Given the description of an element on the screen output the (x, y) to click on. 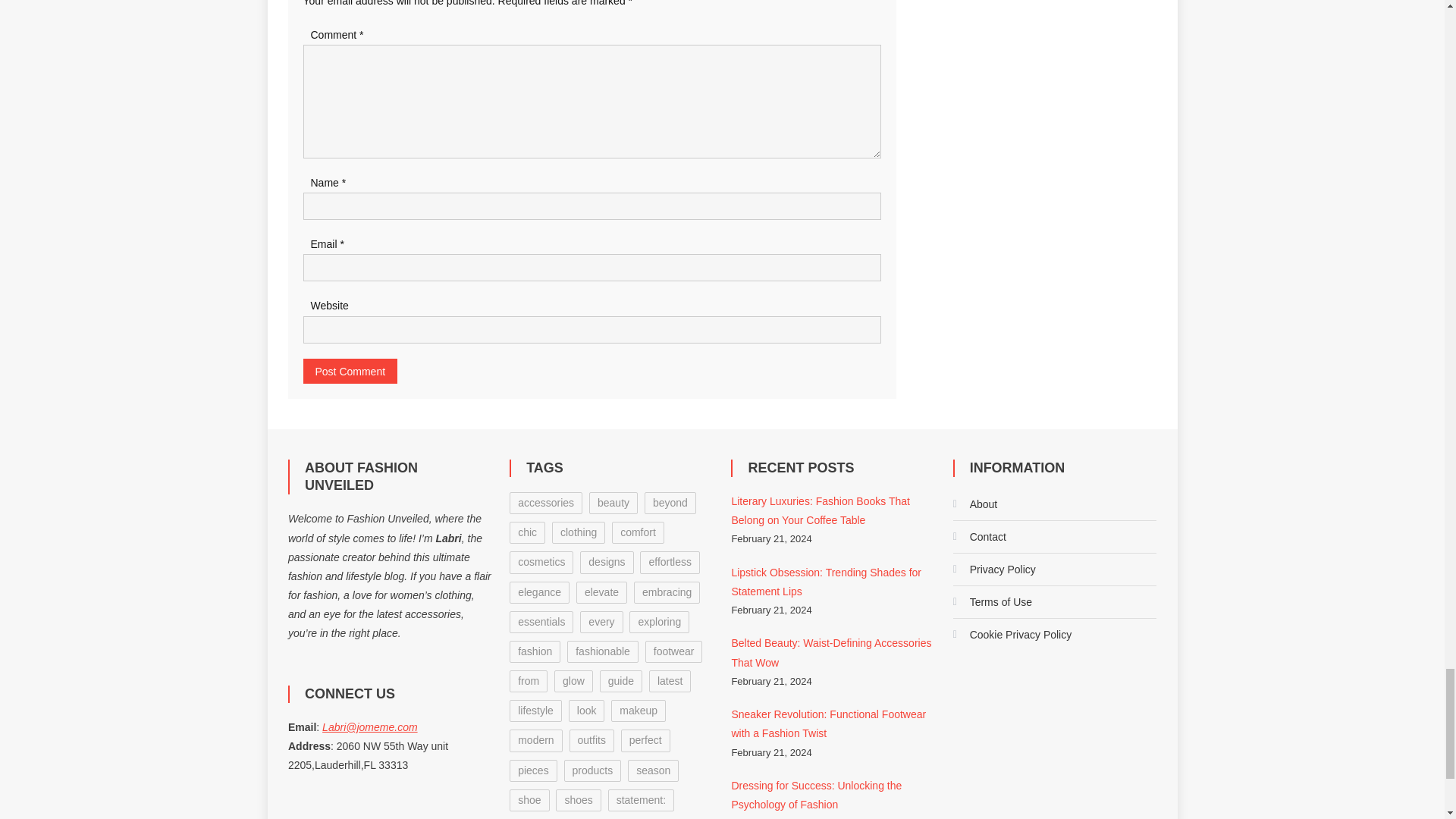
Post Comment (349, 371)
